Given the description of an element on the screen output the (x, y) to click on. 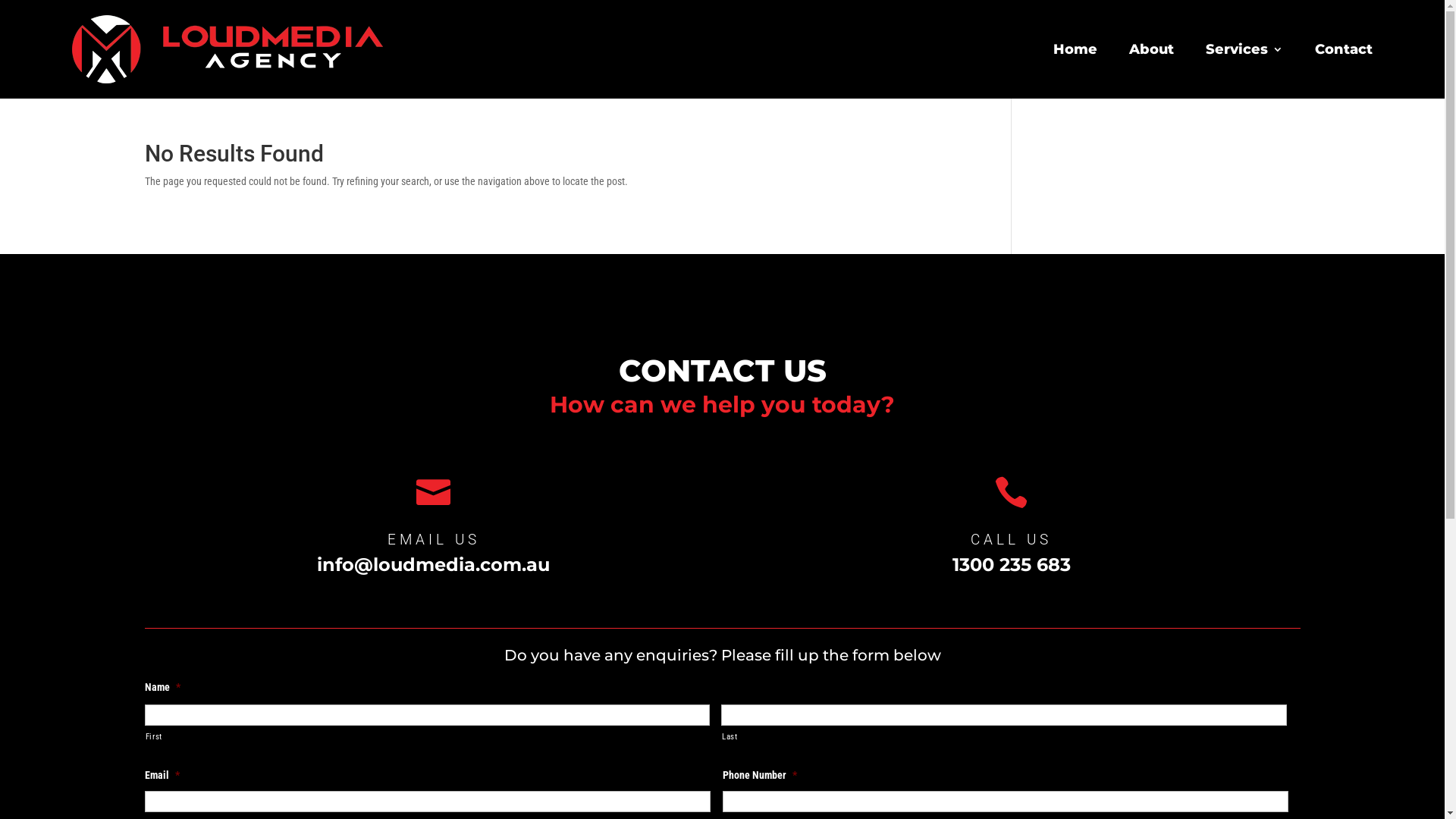
Home Element type: text (1067, 49)
Contact Element type: text (1335, 49)
About Element type: text (1143, 49)
Services Element type: text (1236, 49)
